Given the description of an element on the screen output the (x, y) to click on. 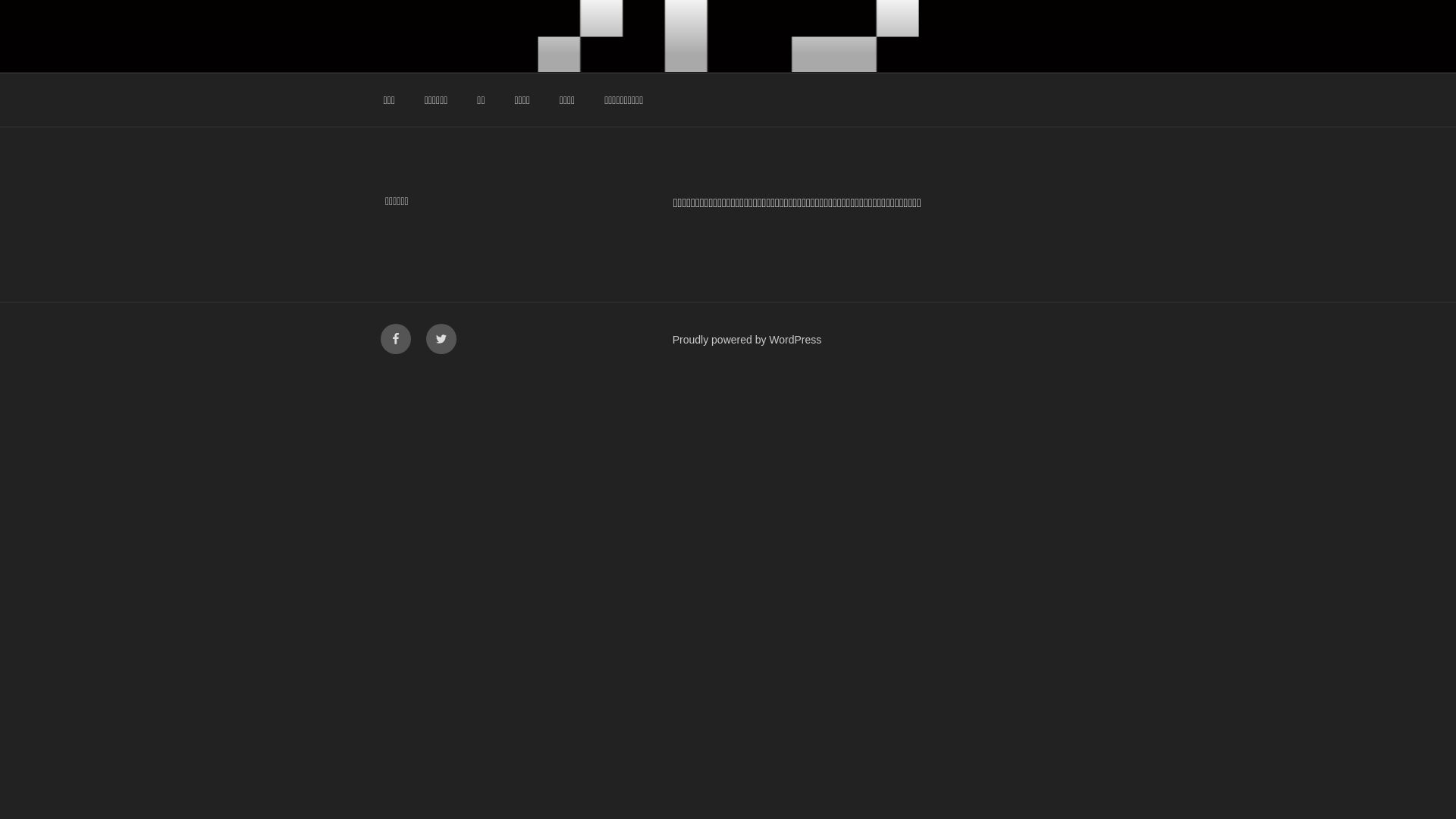
Facebook Element type: text (395, 338)
Proudly powered by WordPress Element type: text (747, 339)
Twitter Element type: text (441, 338)
